Given the description of an element on the screen output the (x, y) to click on. 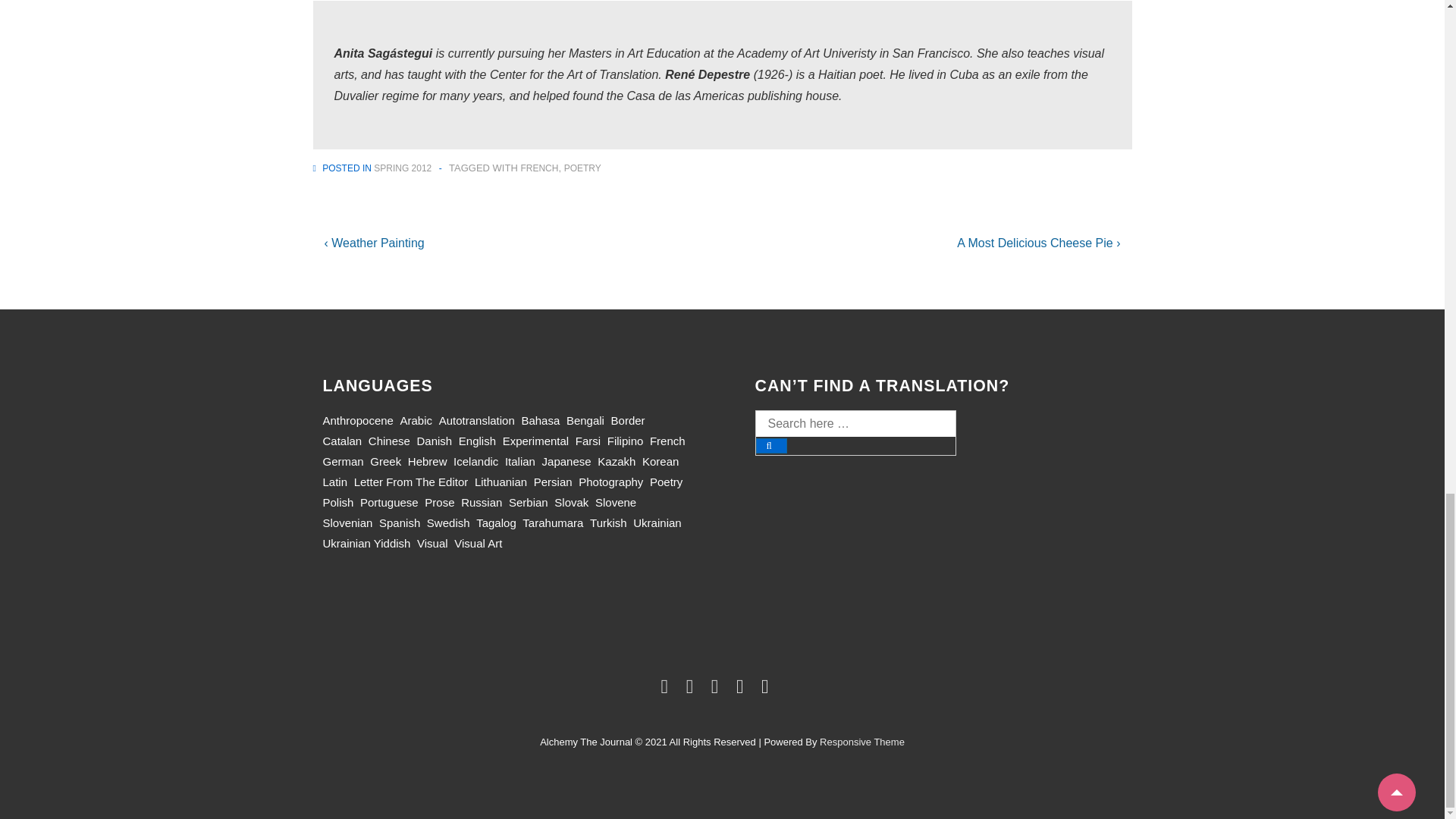
Bahasa (540, 420)
Korean (660, 461)
Experimental (535, 440)
facebook (692, 689)
Border (628, 420)
SPRING 2012 (402, 167)
Kazakh (615, 461)
Farsi (587, 440)
Catalan (342, 440)
Hebrew (426, 461)
